Given the description of an element on the screen output the (x, y) to click on. 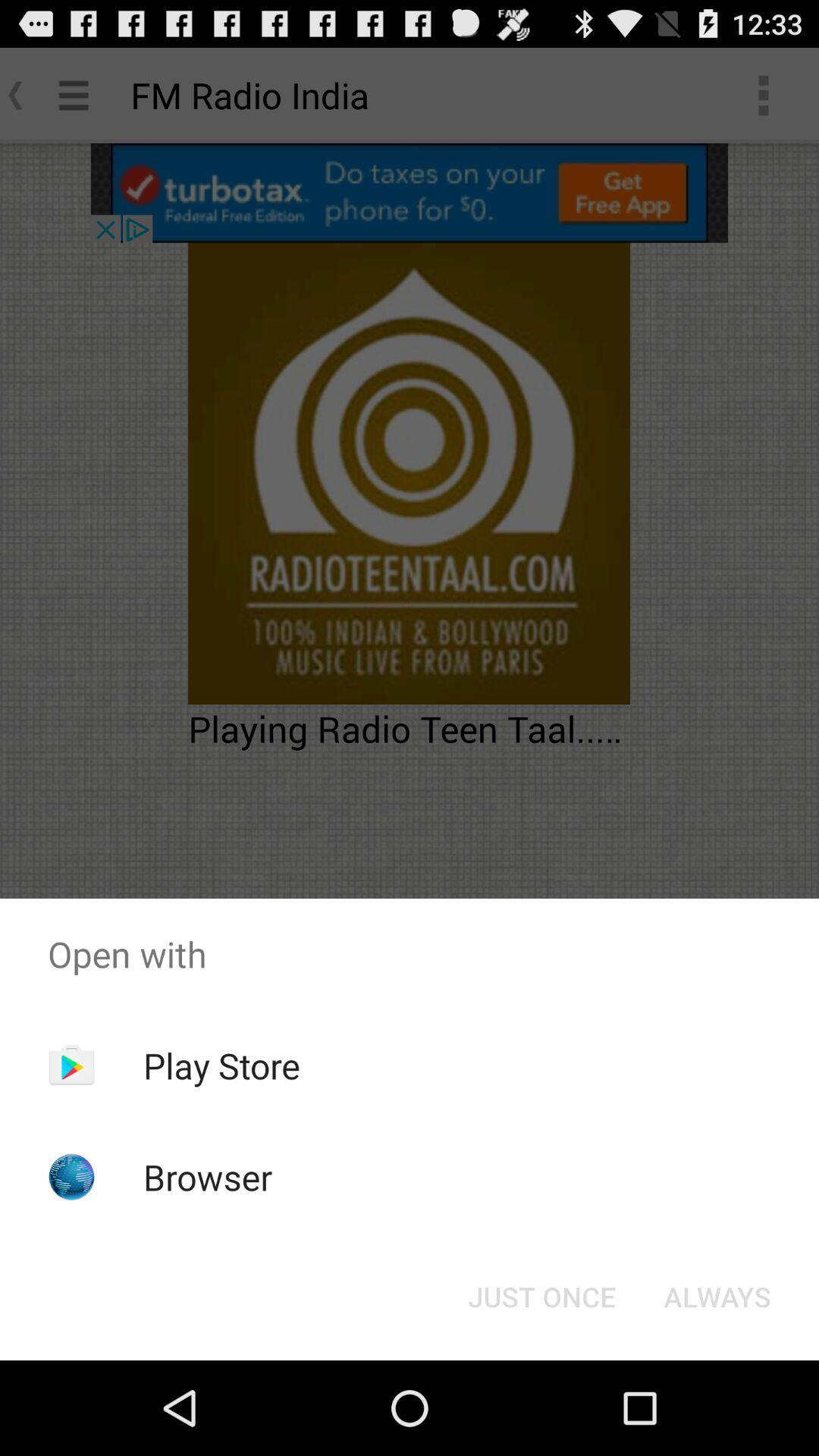
click the item below the play store icon (207, 1176)
